Given the description of an element on the screen output the (x, y) to click on. 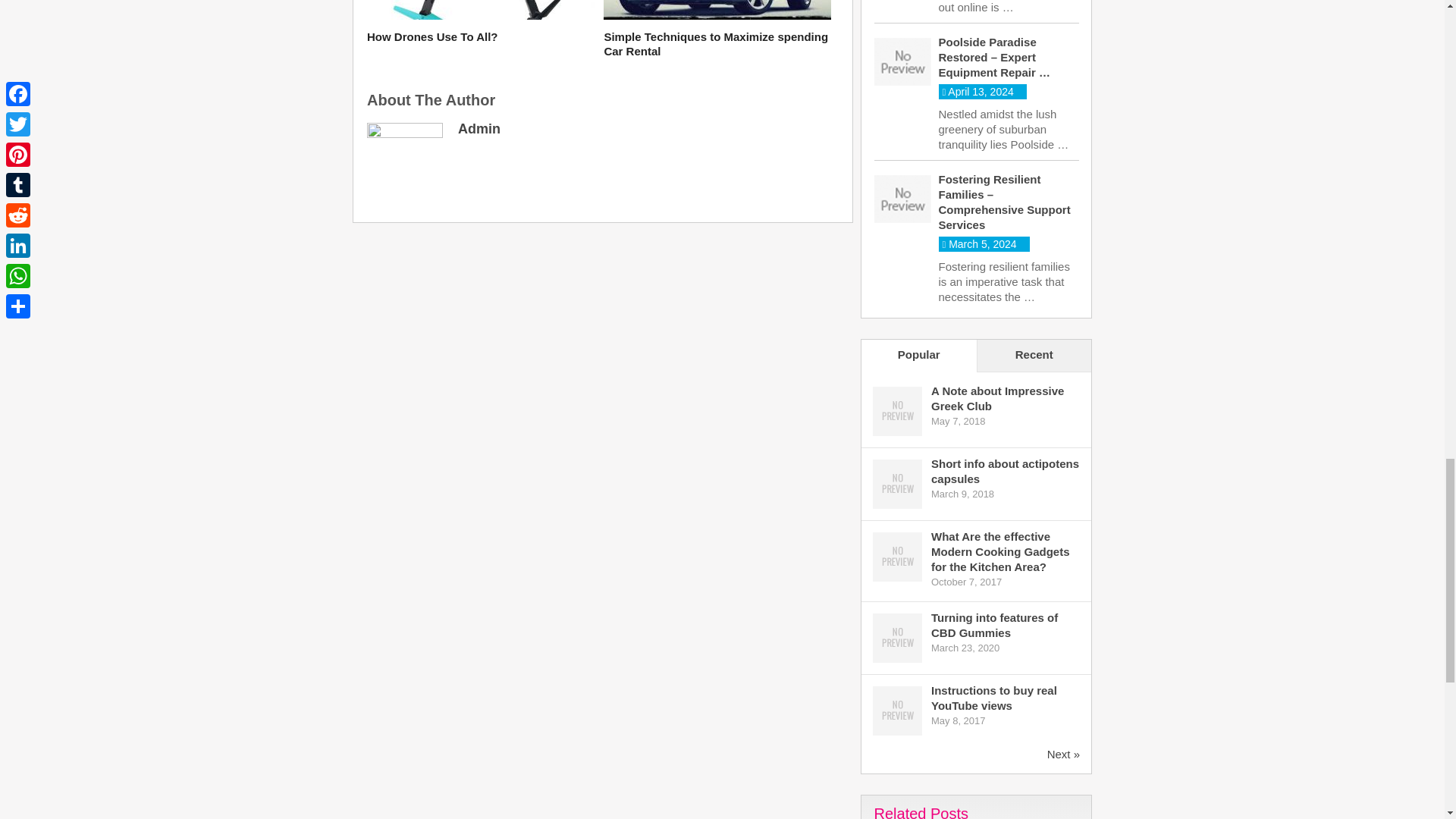
How Drones Use To All? (480, 37)
Admin (479, 128)
Simple Techniques to Maximize spending Car Rental (717, 43)
